Given the description of an element on the screen output the (x, y) to click on. 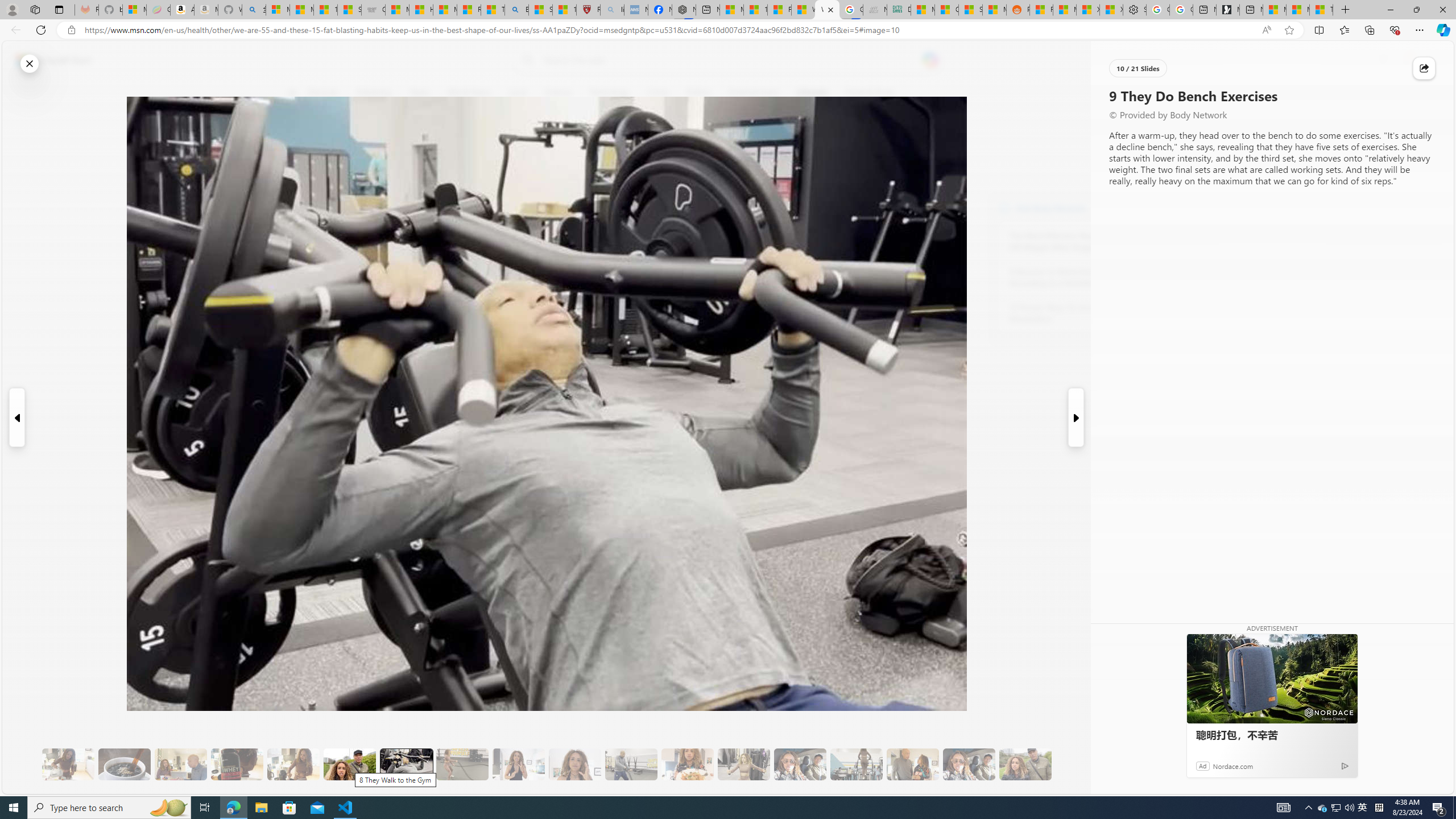
Previous Slide (16, 417)
8 They Walk to the Gym (349, 764)
MSN (993, 9)
15 They Also Indulge in a Low-Calorie Sweet Treat (743, 764)
Science (557, 92)
Technology (608, 92)
7 They Don't Skip Meals (293, 764)
Crime (657, 92)
10 Then, They Do HIIT Cardio (462, 764)
Nordace.com (1232, 765)
5 She Eats Less Than Her Husband (180, 764)
